Given the description of an element on the screen output the (x, y) to click on. 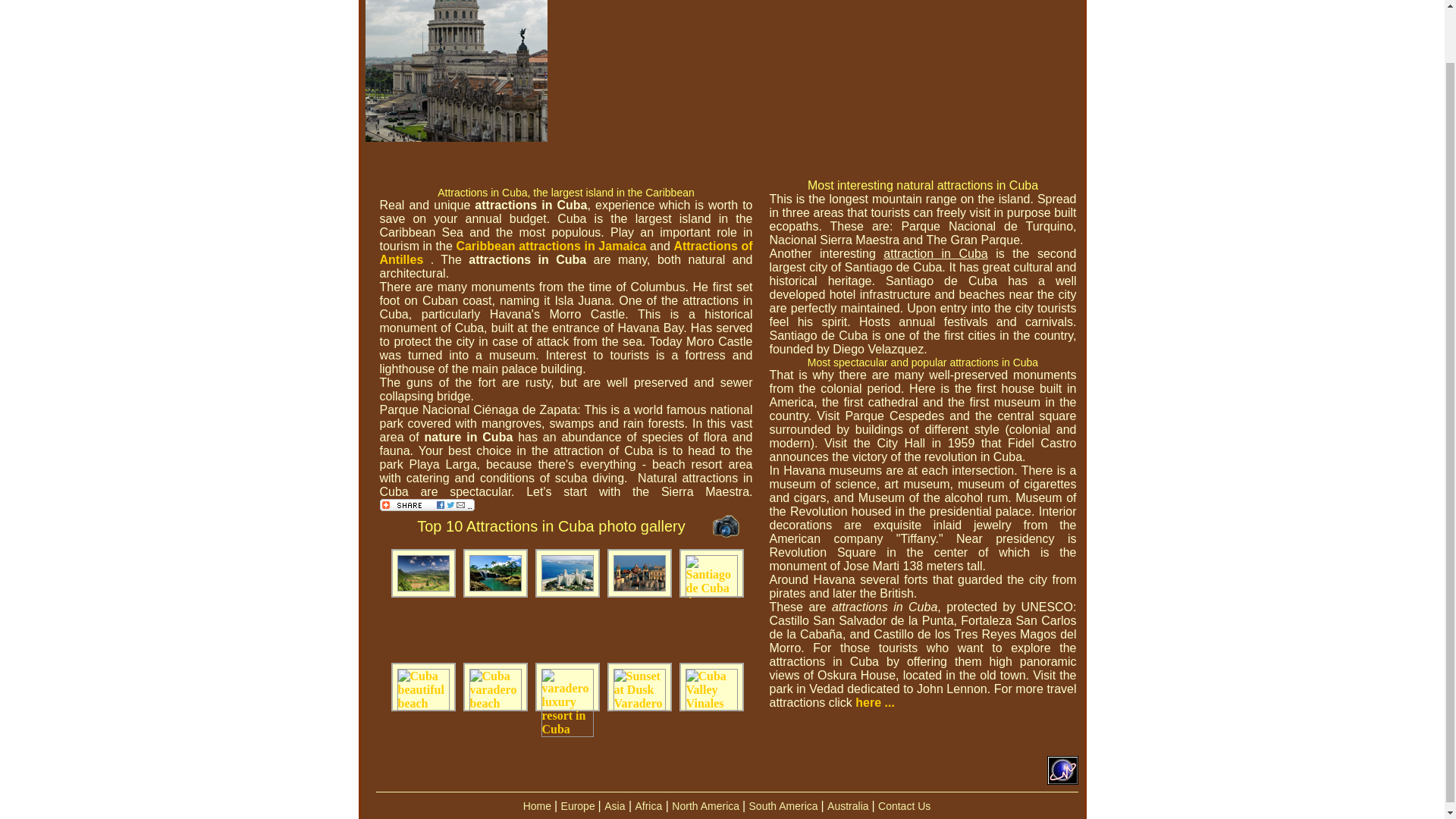
Asia (614, 806)
Australia (848, 806)
Home (538, 806)
Attractions of Antilles (565, 252)
here ... (875, 702)
South America (785, 806)
Caribbean attractions in Jamaica (550, 245)
Contact Us (903, 806)
North America (706, 806)
Africa (648, 806)
Europe (579, 806)
